Given the description of an element on the screen output the (x, y) to click on. 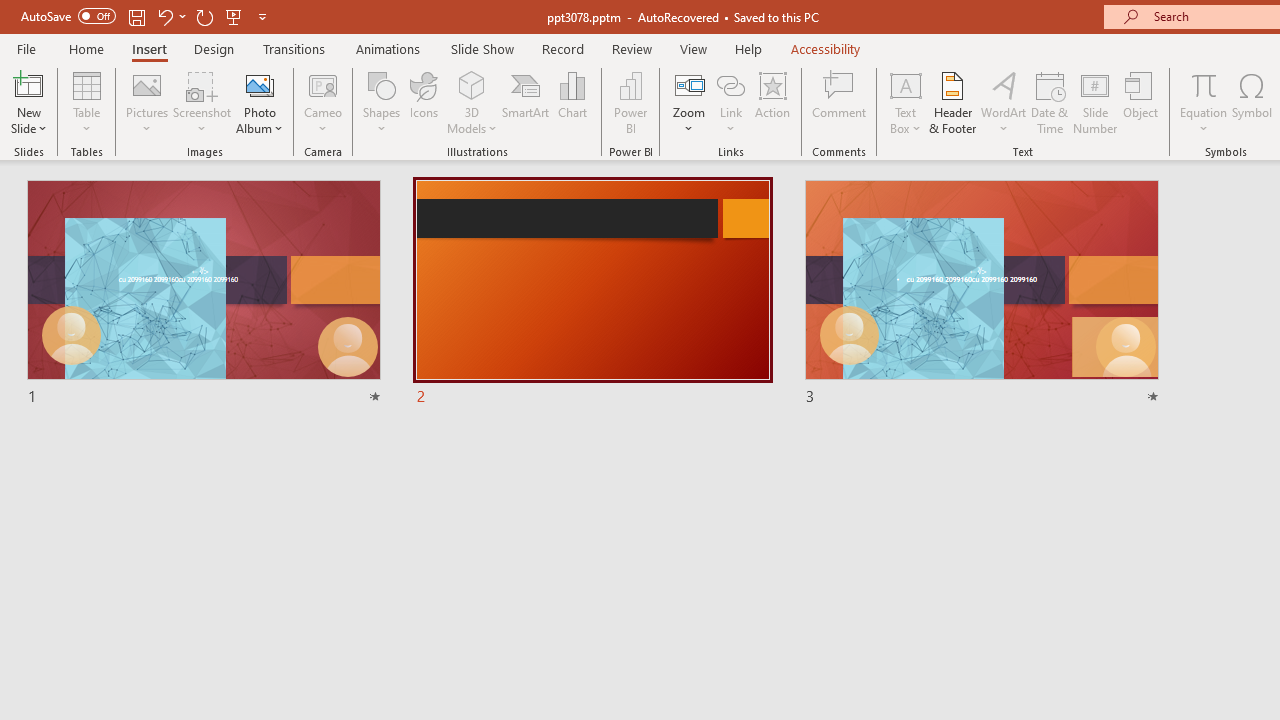
Draw Horizontal Text Box (905, 84)
Accessibility (825, 48)
System (10, 11)
Photo Album... (259, 102)
Power BI (630, 102)
Object... (1141, 102)
Slide Show (481, 48)
Redo (204, 15)
File Tab (26, 48)
Header & Footer... (952, 102)
Quick Access Toolbar (145, 16)
